Given the description of an element on the screen output the (x, y) to click on. 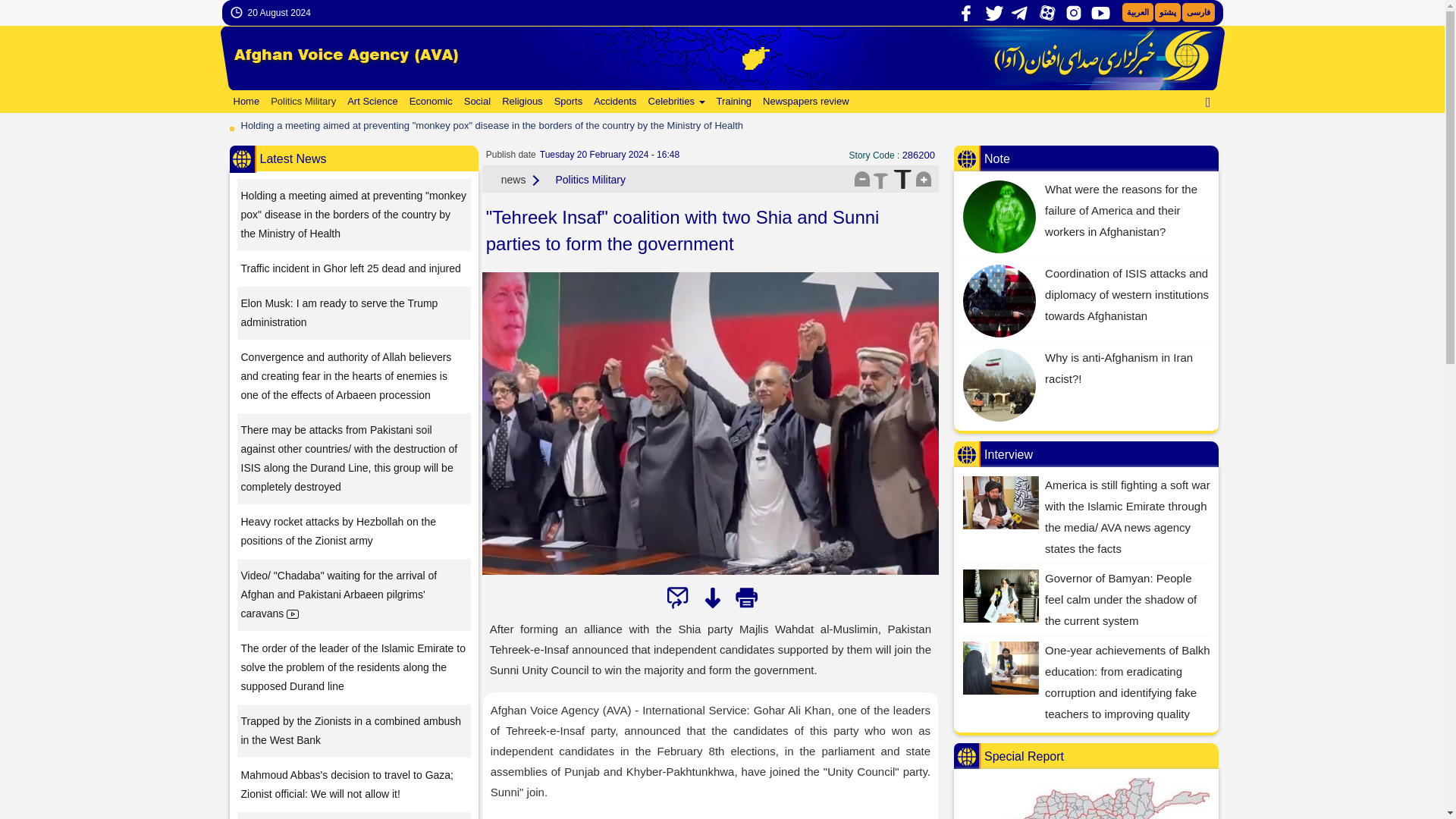
Sports (566, 101)
Training (732, 101)
Economic (429, 101)
Religious (520, 101)
Accidents (613, 101)
Send to a Friend (678, 597)
Social (476, 101)
Home (244, 101)
